Given the description of an element on the screen output the (x, y) to click on. 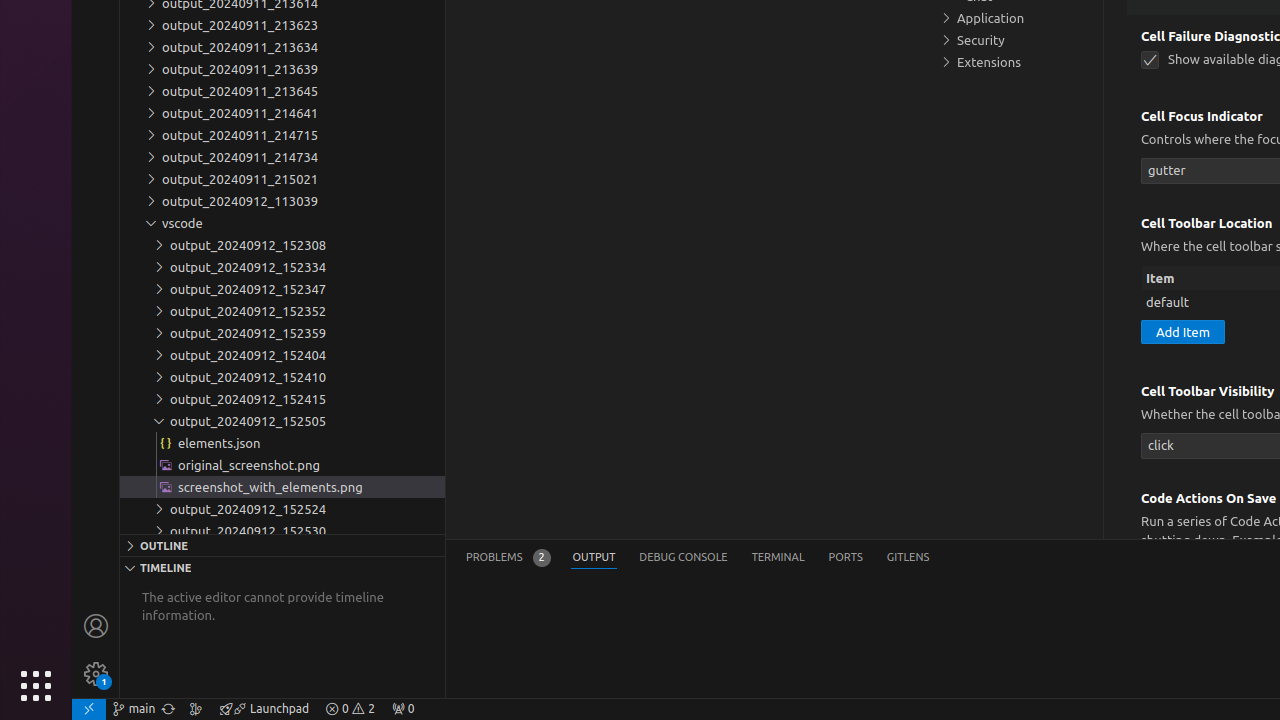
output_20240912_152530 Element type: tree-item (282, 531)
Manage - New Code update available. Element type: push-button (96, 674)
OSWorld (Git) - Synchronize Changes Element type: push-button (168, 709)
output_20240912_152347 Element type: tree-item (282, 289)
Outline Section Element type: push-button (282, 545)
